Given the description of an element on the screen output the (x, y) to click on. 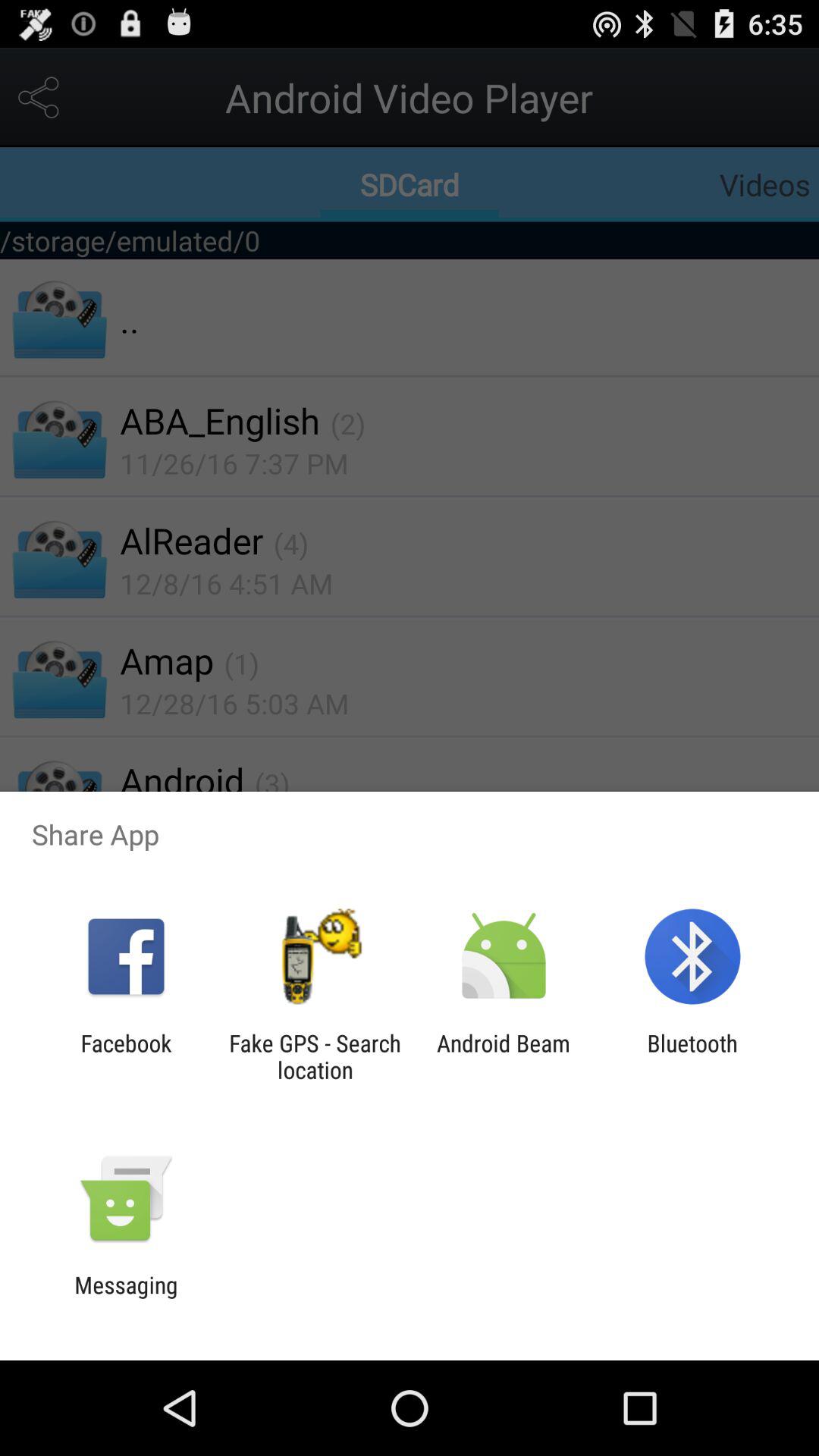
turn off the app next to android beam app (692, 1056)
